Given the description of an element on the screen output the (x, y) to click on. 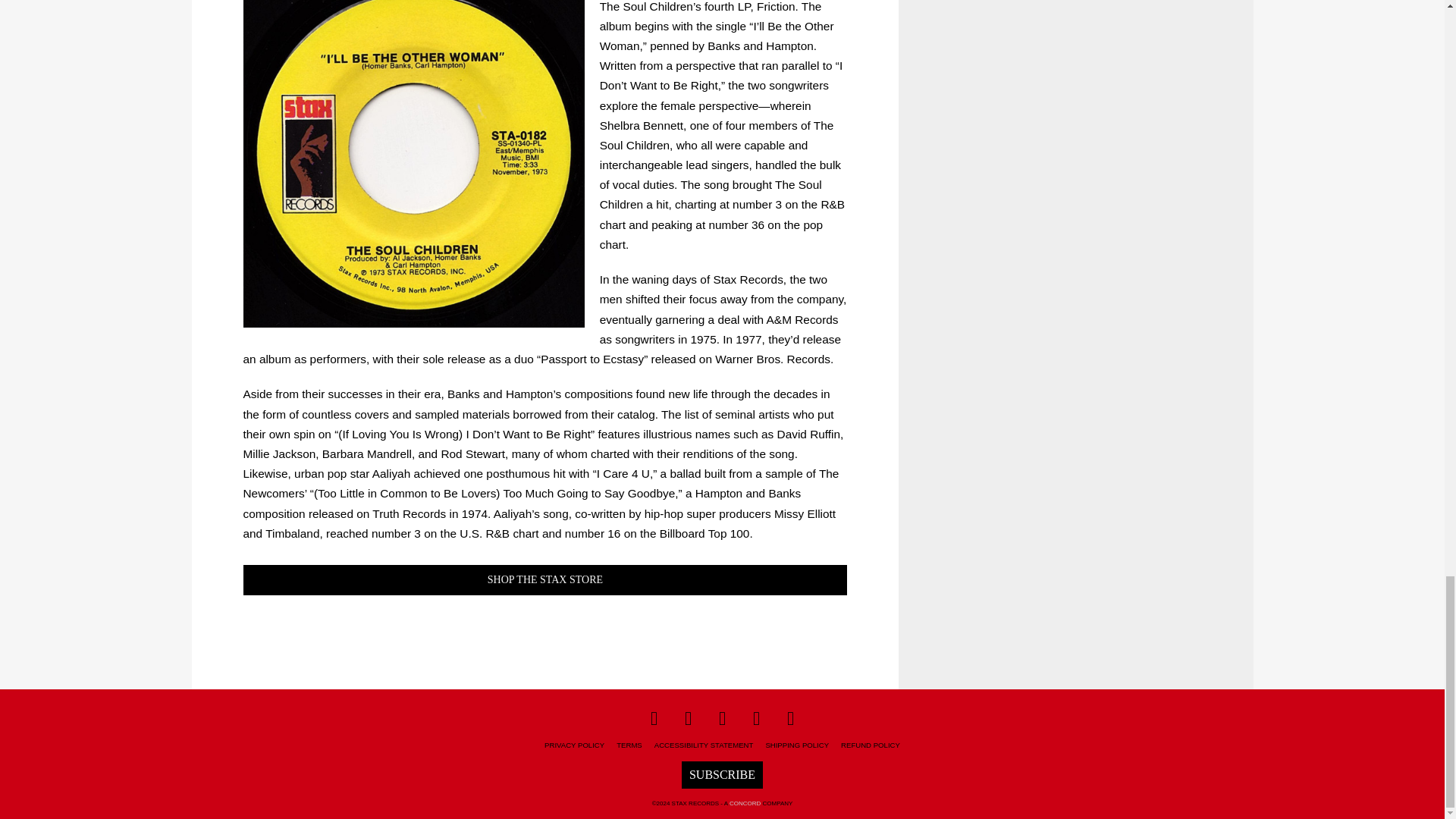
SHOP THE STAX STORE (545, 580)
PRIVACY POLICY (574, 745)
